Given the description of an element on the screen output the (x, y) to click on. 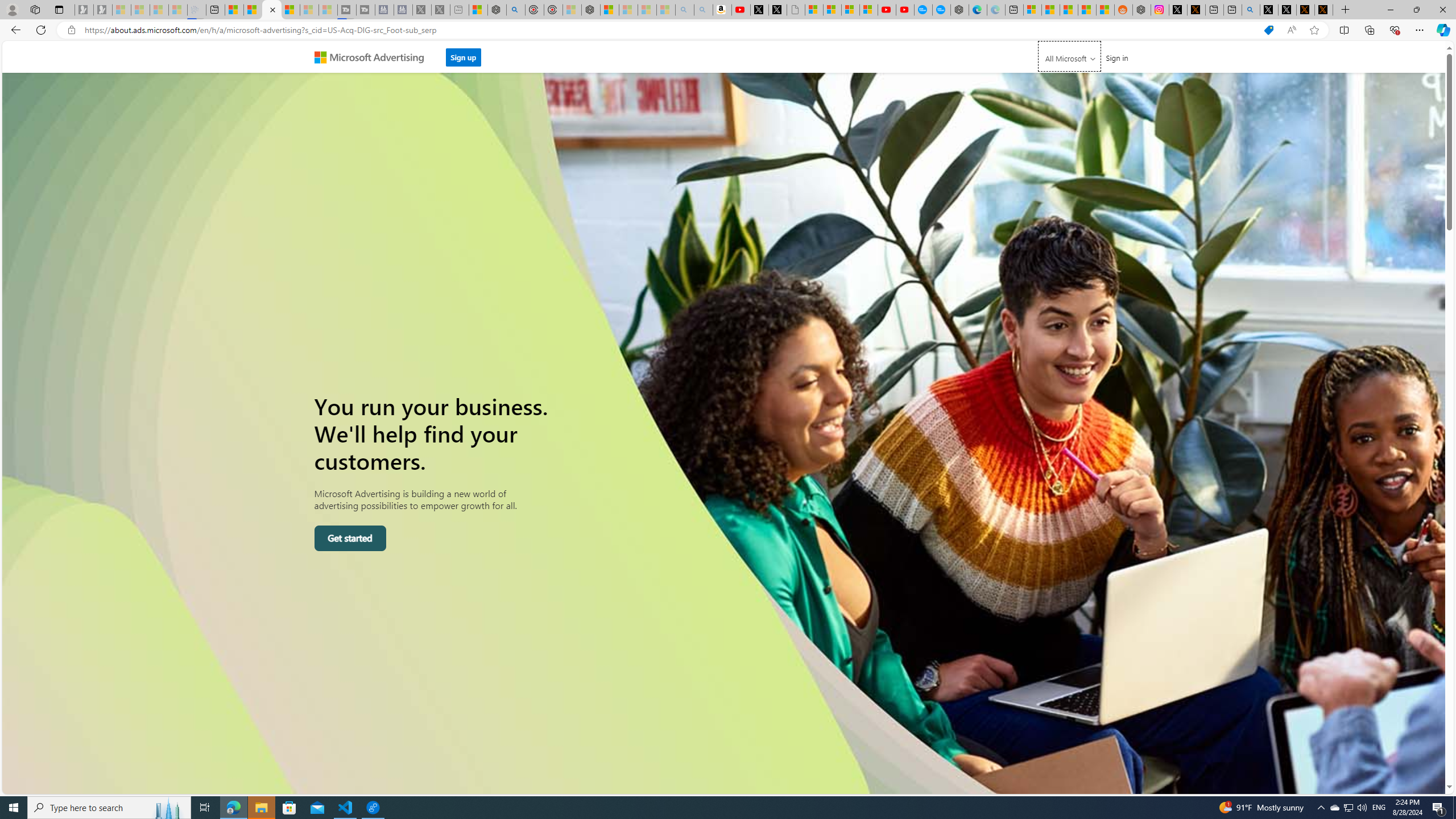
X - Sleeping (440, 9)
Microsoft Advertising (373, 56)
Shanghai, China Weather trends | Microsoft Weather (1105, 9)
Shanghai, China hourly forecast | Microsoft Weather (1069, 9)
Newsletter Sign Up - Sleeping (102, 9)
Nordace - Nordace Siena Is Not An Ordinary Backpack (590, 9)
